Given the description of an element on the screen output the (x, y) to click on. 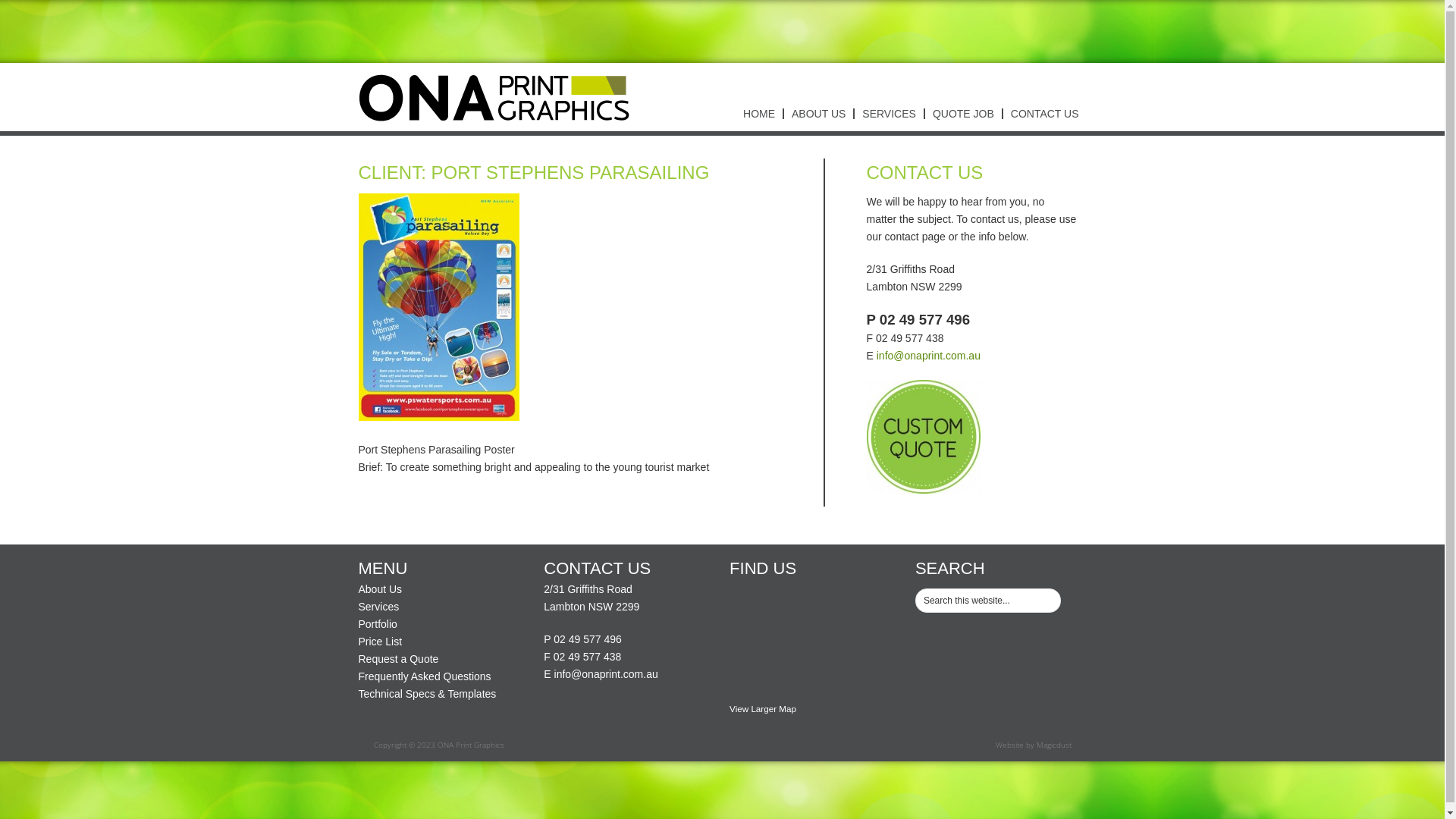
info@onaprint.com.au Element type: text (606, 674)
Price List Element type: text (379, 641)
Technical Specs & Templates Element type: text (426, 693)
CONTACT US Element type: text (1043, 113)
HOME Element type: text (758, 113)
Services Element type: text (377, 606)
QUOTE JOB Element type: text (962, 113)
SERVICES Element type: text (888, 113)
View Larger Map Element type: text (762, 708)
Frequently Asked Questions Element type: text (423, 676)
ABOUT US Element type: text (817, 113)
Request a Quote Element type: text (397, 658)
Portfolio Element type: text (376, 624)
info@onaprint.com.au Element type: text (928, 355)
About Us Element type: text (379, 589)
Magicdust Element type: text (1052, 744)
ONA PRINT GRAPHICS Element type: text (493, 96)
